Given the description of an element on the screen output the (x, y) to click on. 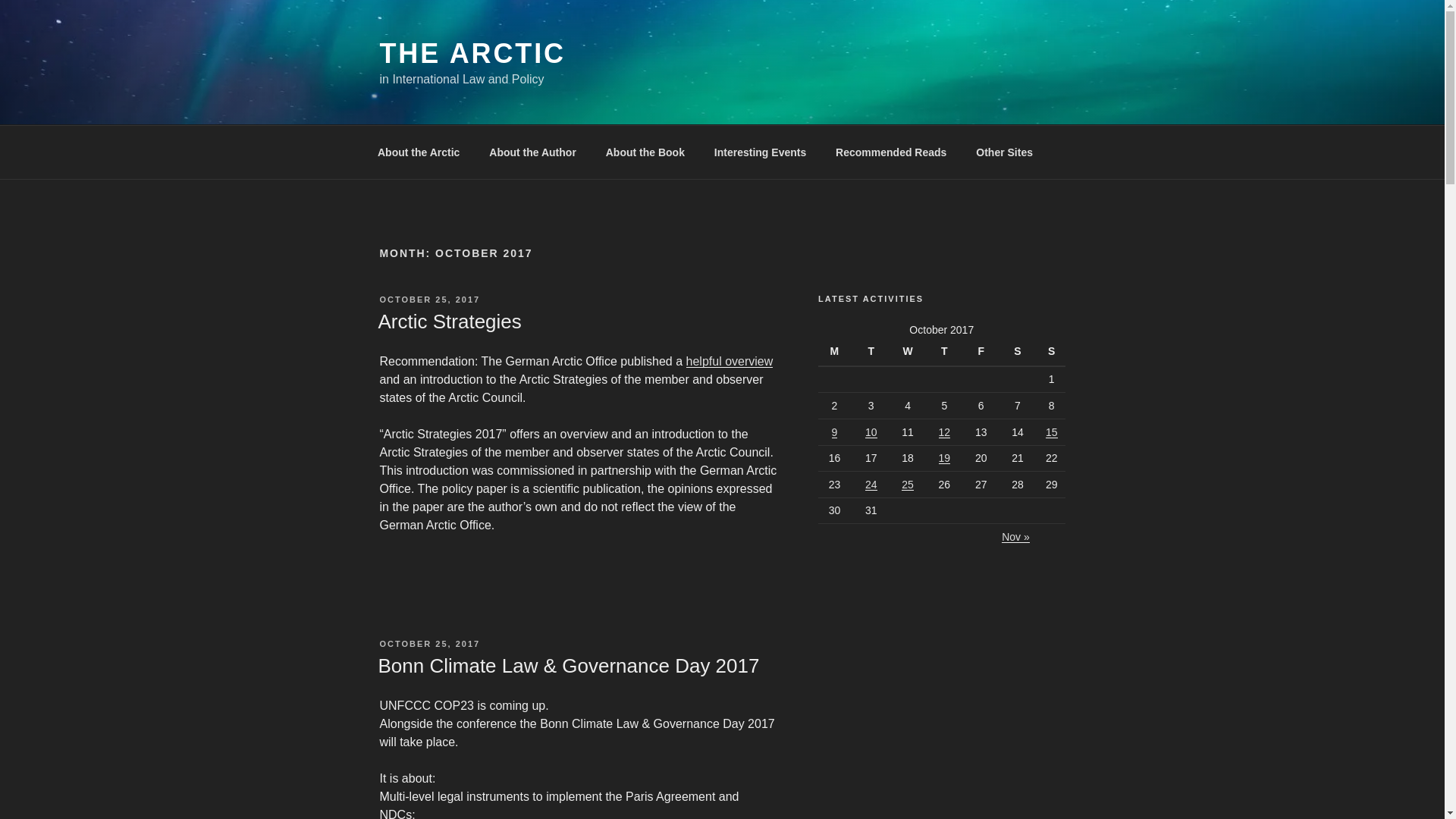
THE ARCTIC (471, 52)
Wednesday (909, 352)
About the Arctic (417, 151)
helpful overview (729, 360)
Friday (982, 352)
About the Book (644, 151)
Saturday (1019, 352)
About the Author (532, 151)
OCTOBER 25, 2017 (429, 643)
OCTOBER 25, 2017 (429, 298)
